Given the description of an element on the screen output the (x, y) to click on. 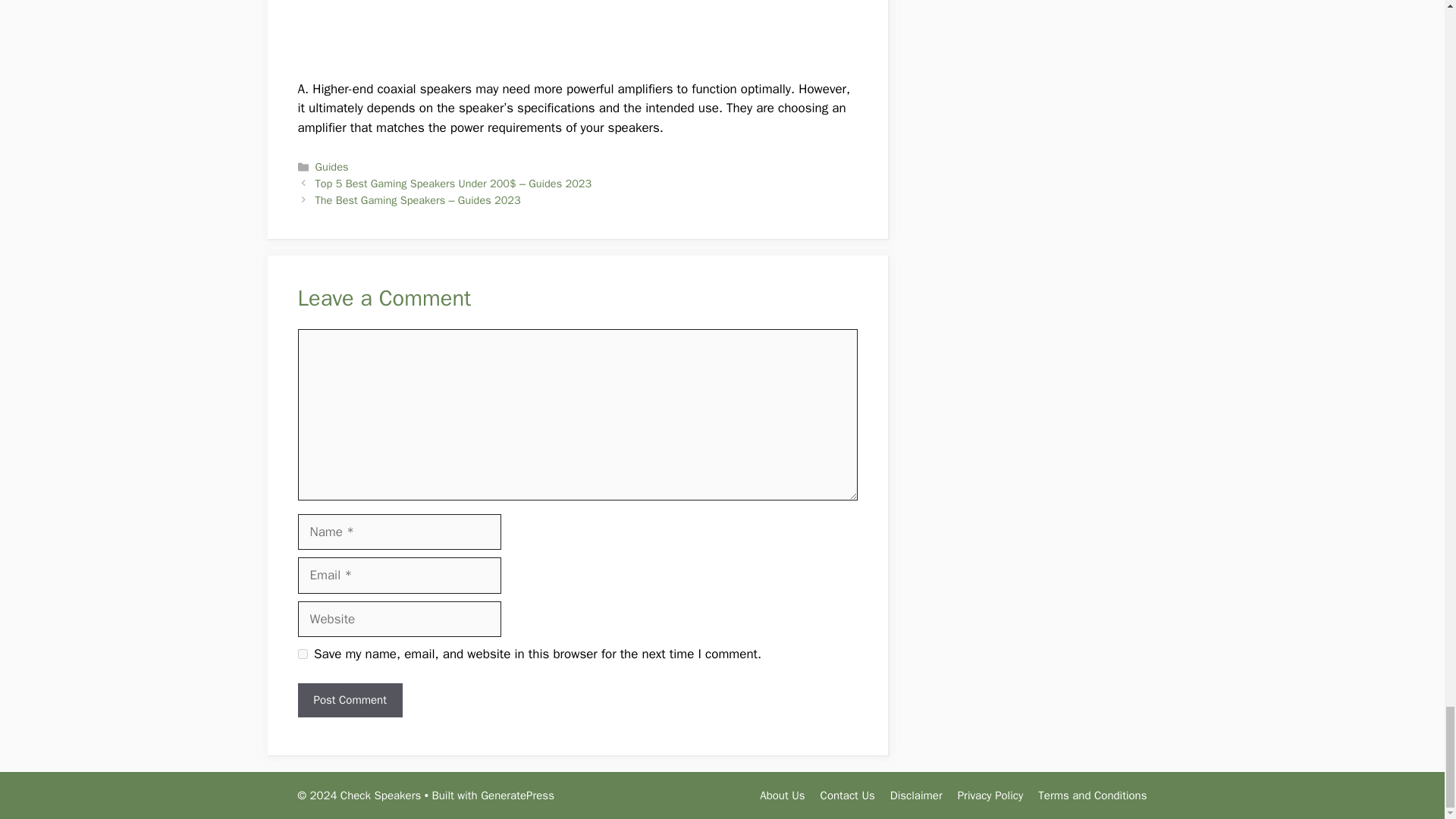
Contact Us (848, 795)
Privacy Policy (990, 795)
About Us (782, 795)
Disclaimer (915, 795)
Guides (332, 166)
Post Comment (349, 700)
Terms and Conditions (1092, 795)
Post Comment (349, 700)
yes (302, 654)
GeneratePress (517, 795)
